Given the description of an element on the screen output the (x, y) to click on. 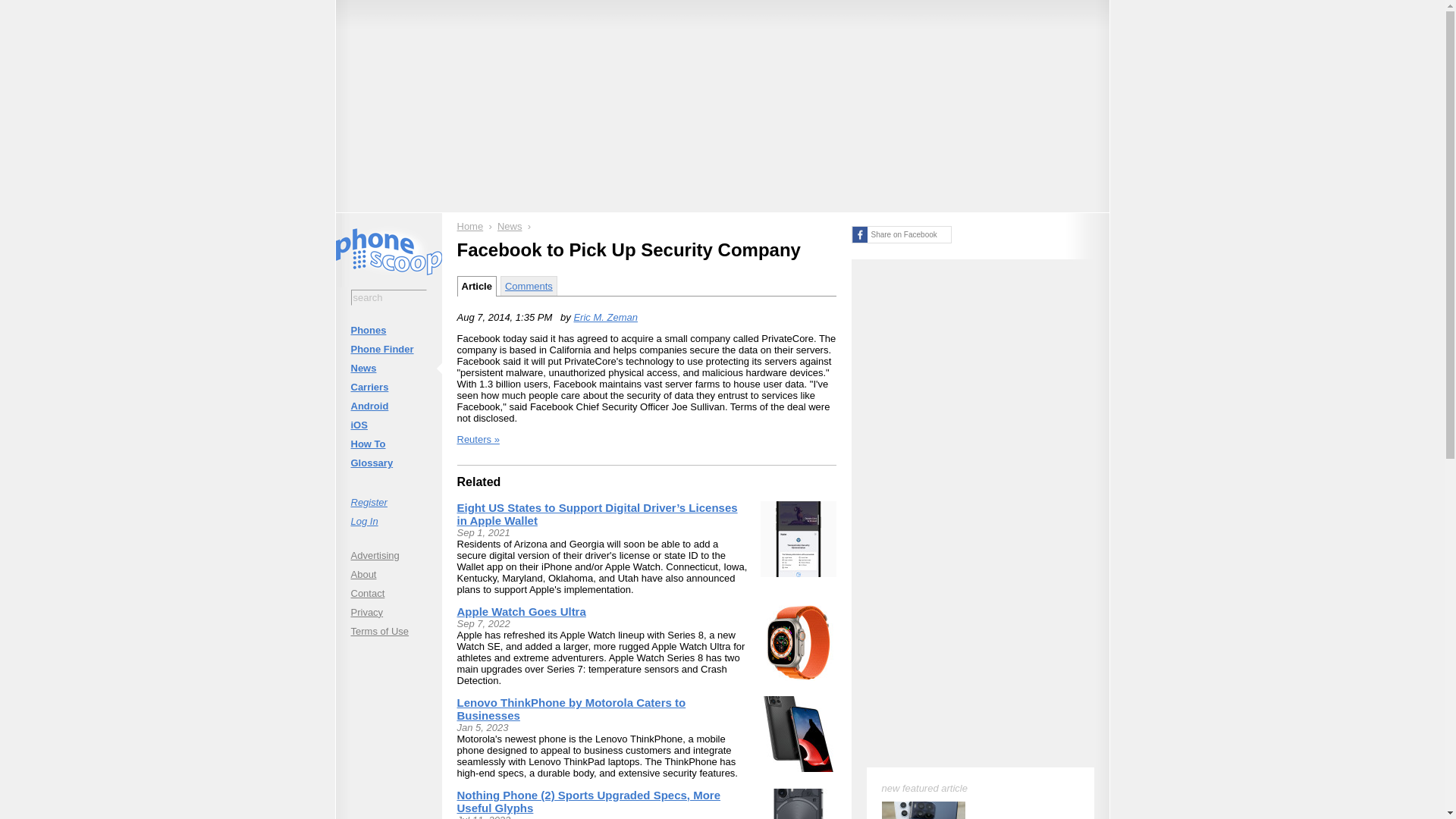
Log In (387, 520)
Share on Facebook (900, 234)
Glossary (387, 462)
Android (387, 405)
search (388, 297)
Privacy (387, 610)
Contact (387, 592)
Phone Finder (387, 348)
Advertising (387, 555)
